Given the description of an element on the screen output the (x, y) to click on. 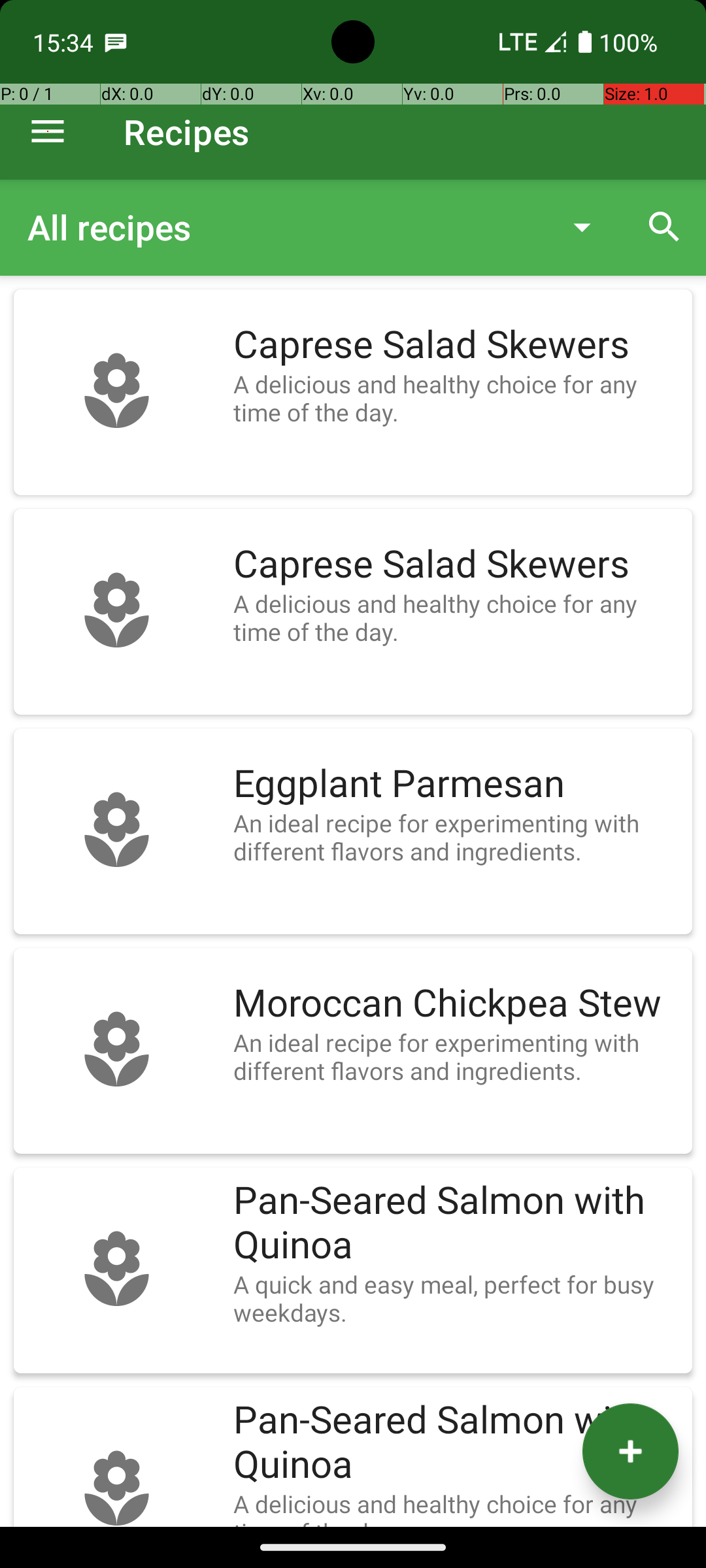
Pan-Seared Salmon with Quinoa Element type: android.widget.TextView (455, 1222)
